Given the description of an element on the screen output the (x, y) to click on. 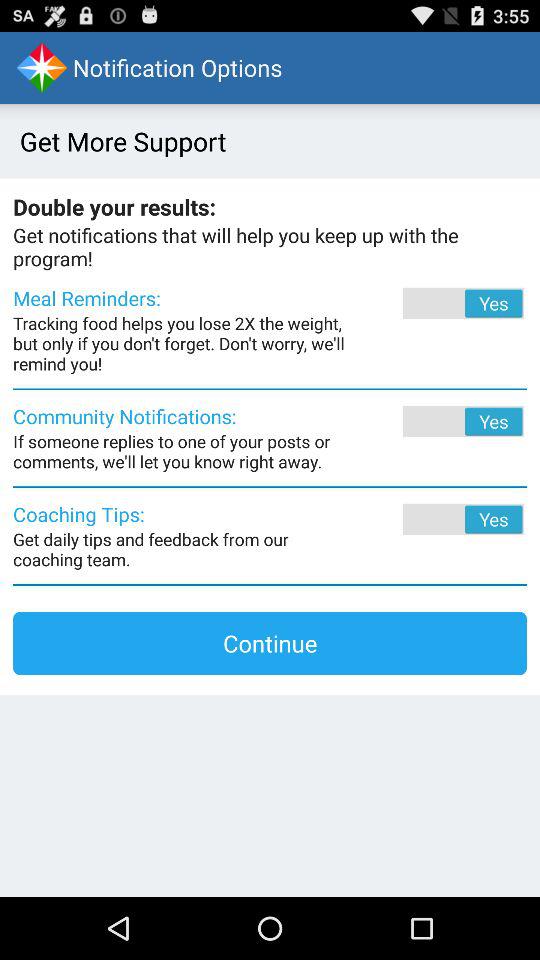
choose icon at the top right corner (436, 303)
